Given the description of an element on the screen output the (x, y) to click on. 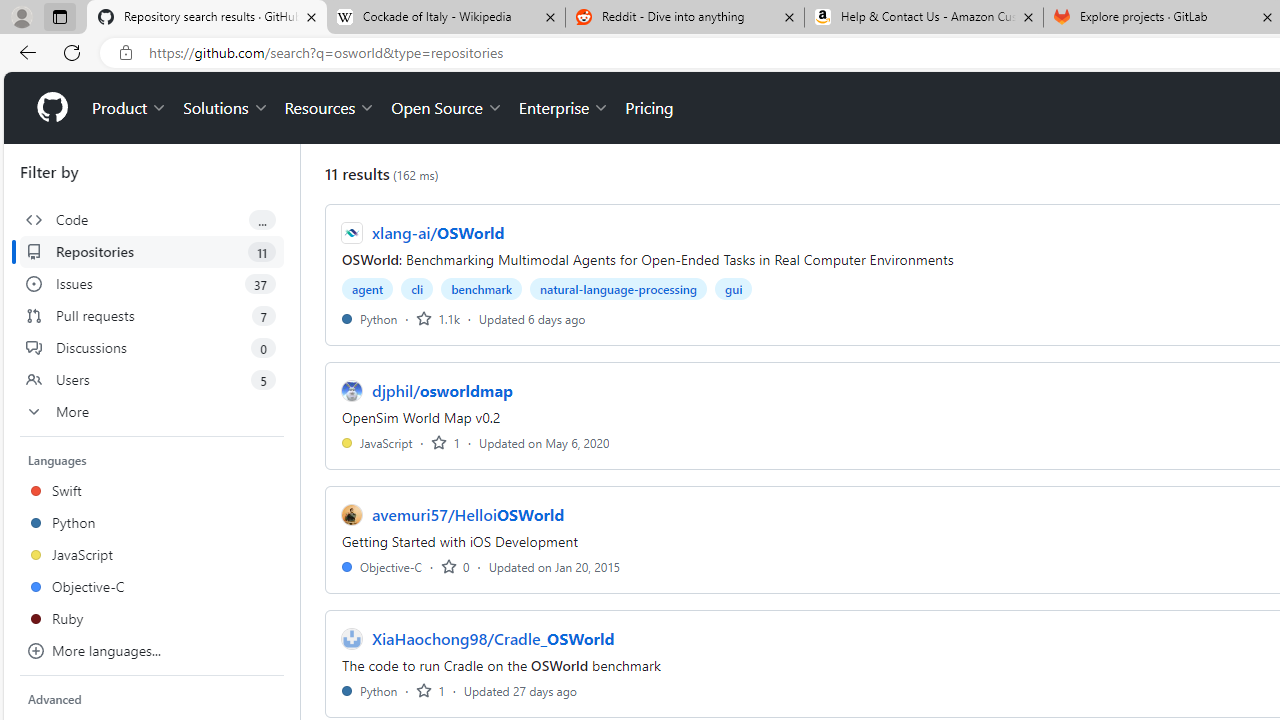
Enterprise (563, 107)
gui (733, 288)
benchmark (482, 288)
More (152, 411)
1098 stars (437, 318)
